Given the description of an element on the screen output the (x, y) to click on. 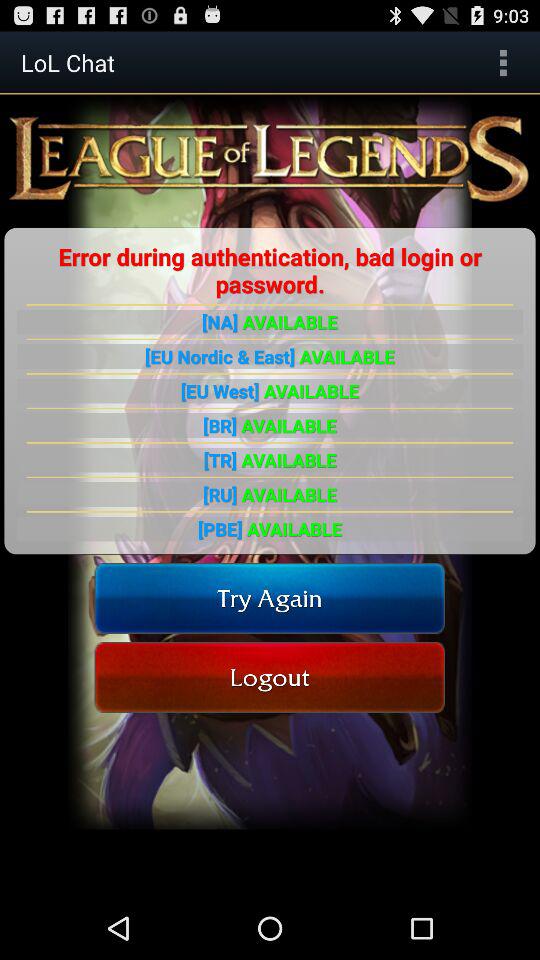
open item next to lol chat icon (503, 62)
